Given the description of an element on the screen output the (x, y) to click on. 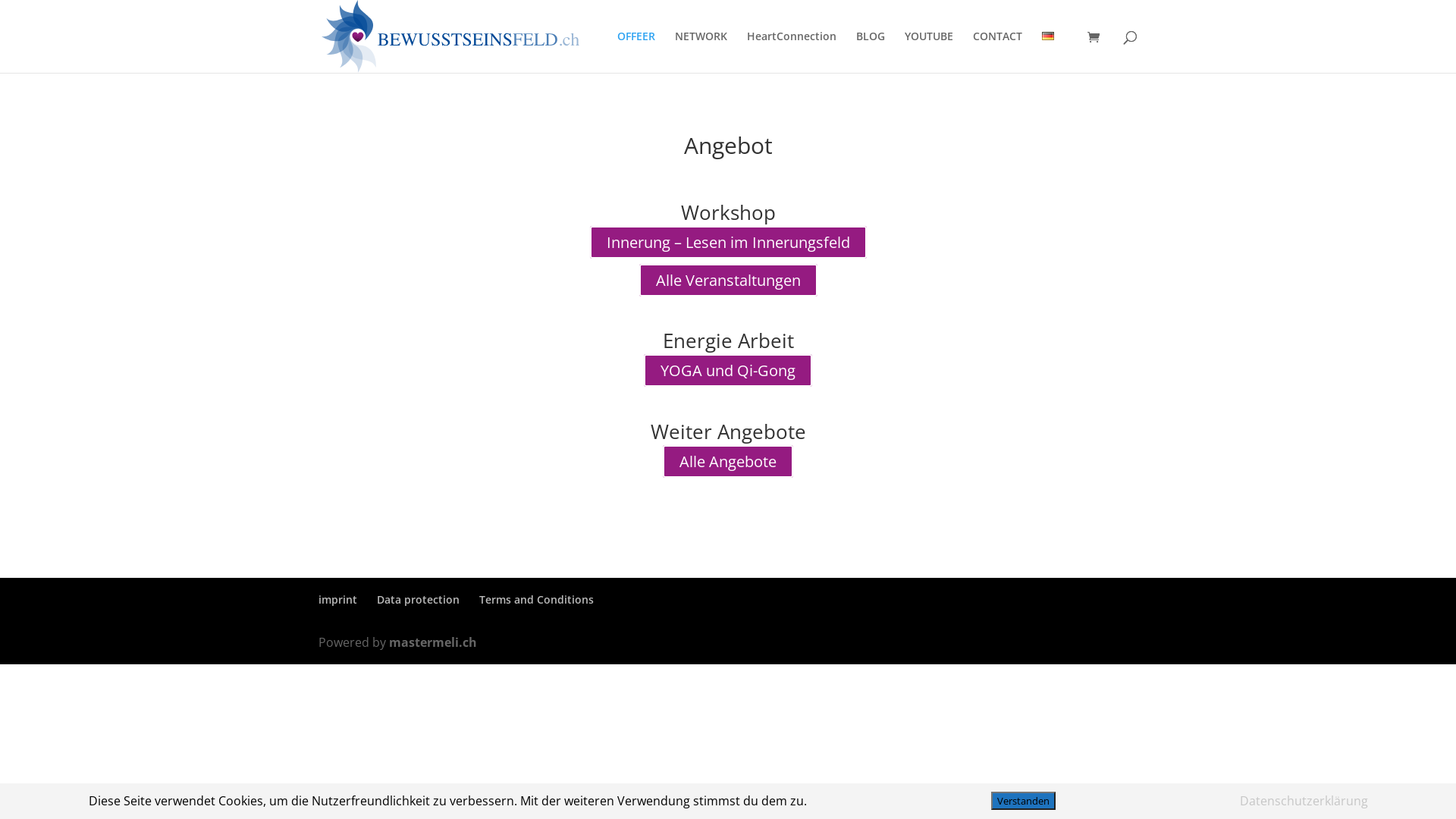
imprint Element type: text (337, 599)
BLOG Element type: text (870, 51)
HeartConnection Element type: text (791, 51)
Alle Angebote Element type: text (727, 461)
Terms and Conditions Element type: text (536, 599)
Verstanden Element type: text (1022, 800)
YOGA und Qi-Gong Element type: text (727, 370)
mastermeli.ch Element type: text (432, 641)
OFFEER Element type: text (636, 51)
Alle Veranstaltungen Element type: text (727, 279)
YOUTUBE Element type: text (928, 51)
CONTACT Element type: text (997, 51)
Data protection Element type: text (417, 599)
NETWORK Element type: text (700, 51)
